Given the description of an element on the screen output the (x, y) to click on. 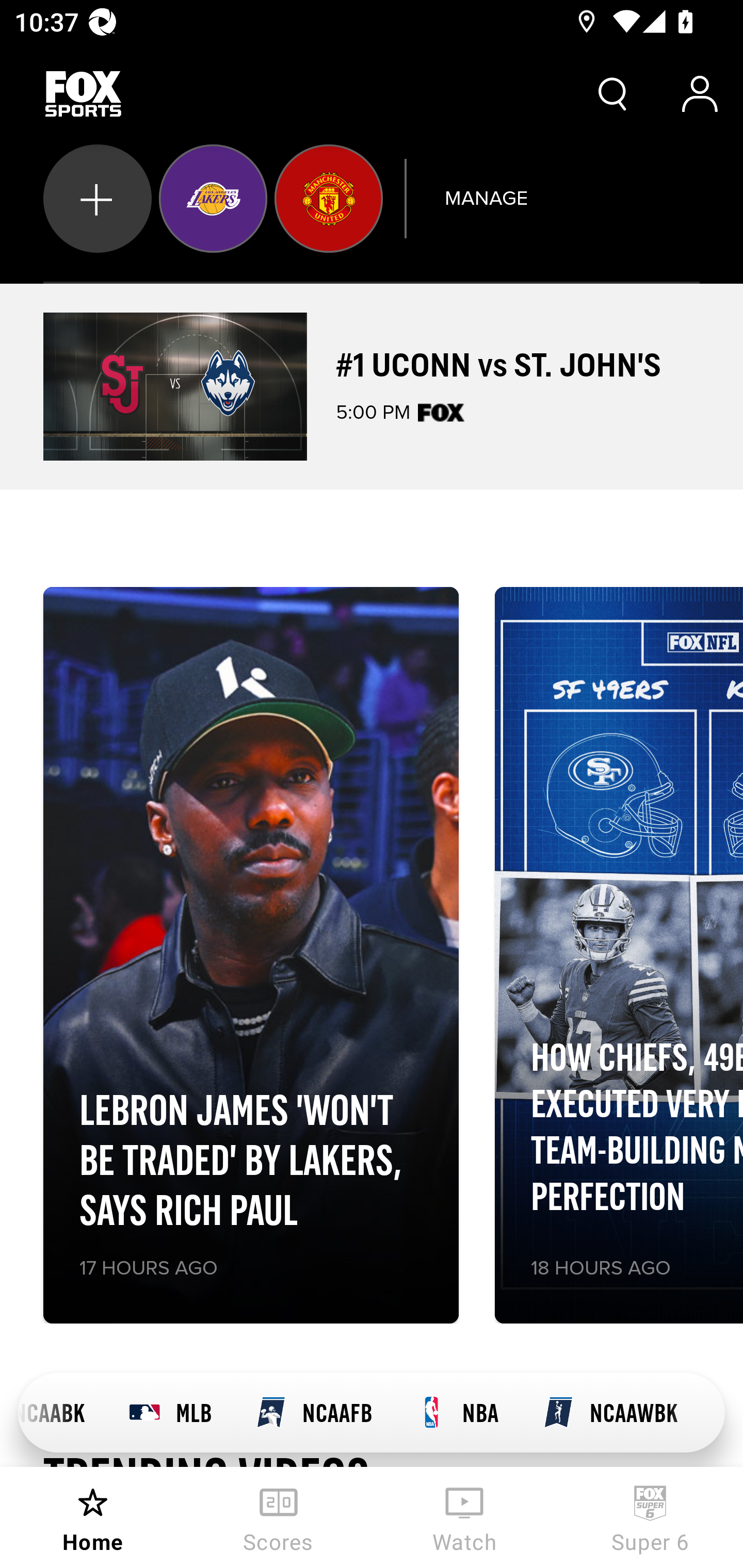
Search (612, 93)
Account (699, 93)
MANAGE (485, 198)
#1 UCONN vs ST. JOHN'S 5:00 PM (371, 386)
NCAABK (61, 1412)
MLB (169, 1412)
NCAAFB (313, 1412)
NBA (456, 1412)
NCAAWBK (609, 1412)
Scores (278, 1517)
Watch (464, 1517)
Super 6 (650, 1517)
